Given the description of an element on the screen output the (x, y) to click on. 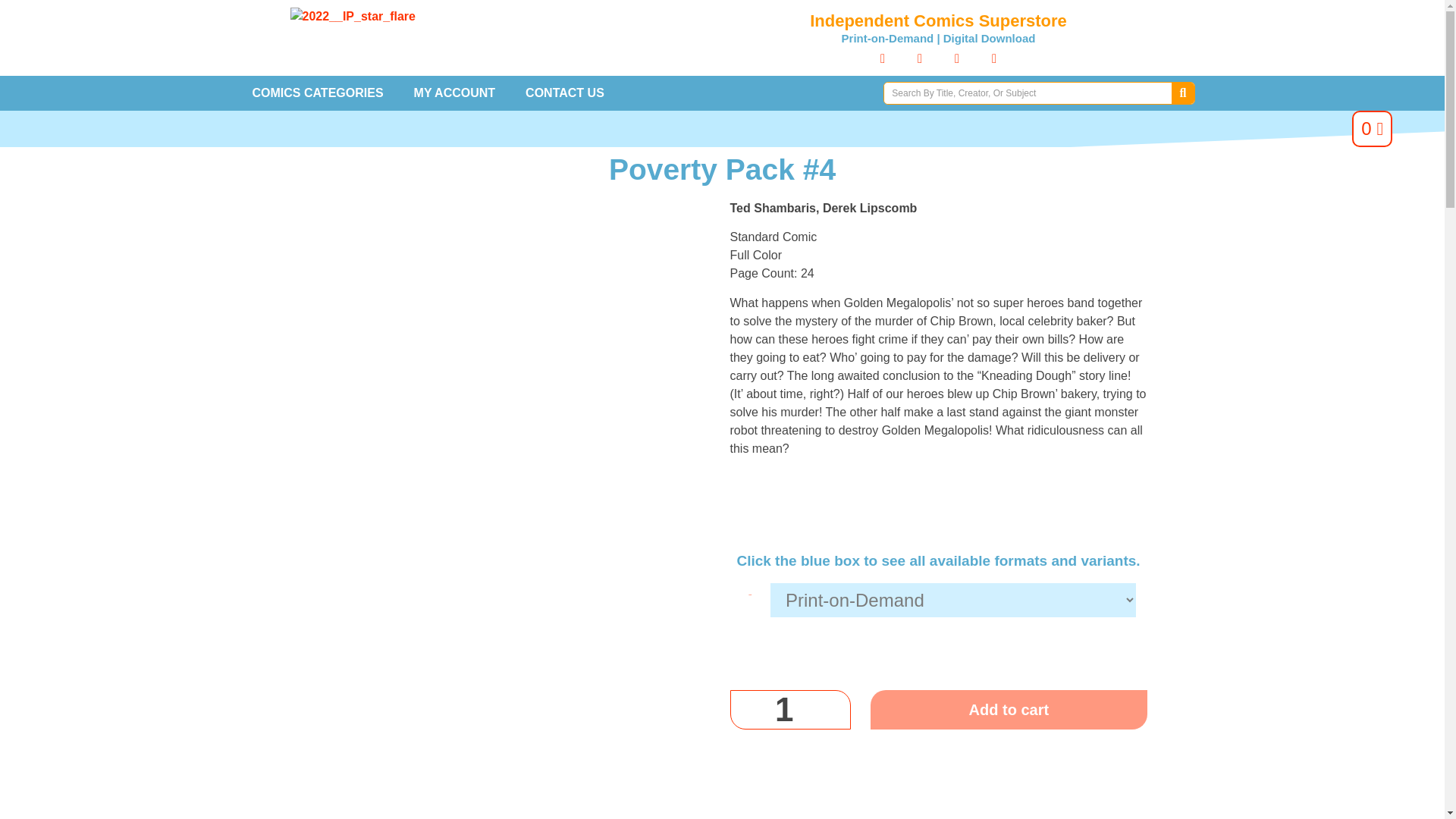
COMICS CATEGORIES (316, 92)
MY ACCOUNT (454, 92)
1 (789, 709)
Add to cart (1008, 709)
0 (1371, 128)
CONTACT US (565, 92)
